Given the description of an element on the screen output the (x, y) to click on. 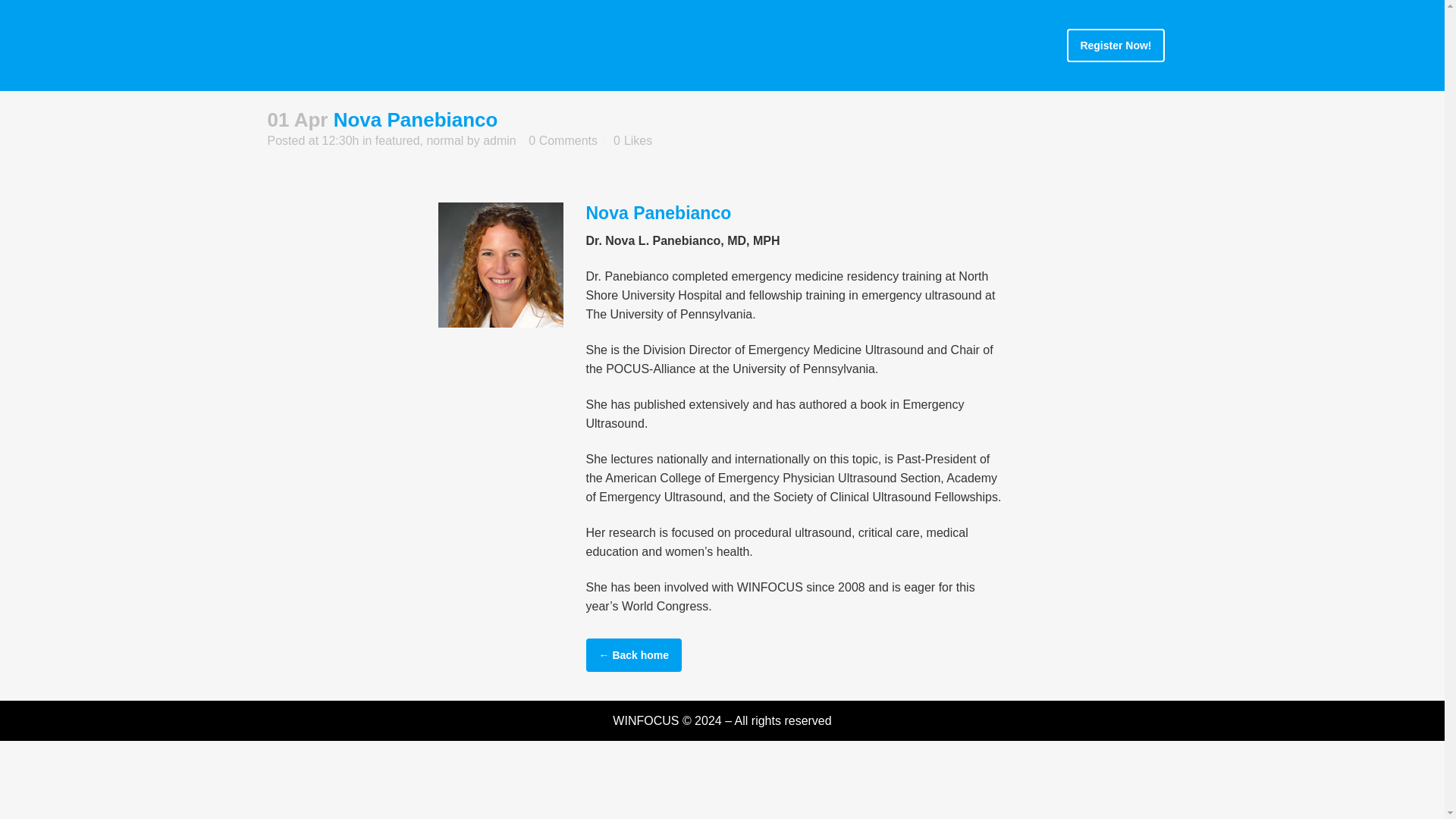
Like this (632, 140)
admin (499, 140)
0 Likes (632, 140)
0 Comments (562, 140)
featured (397, 140)
Register Now! (1115, 45)
Nova Panebianco (500, 264)
normal (444, 140)
